Given the description of an element on the screen output the (x, y) to click on. 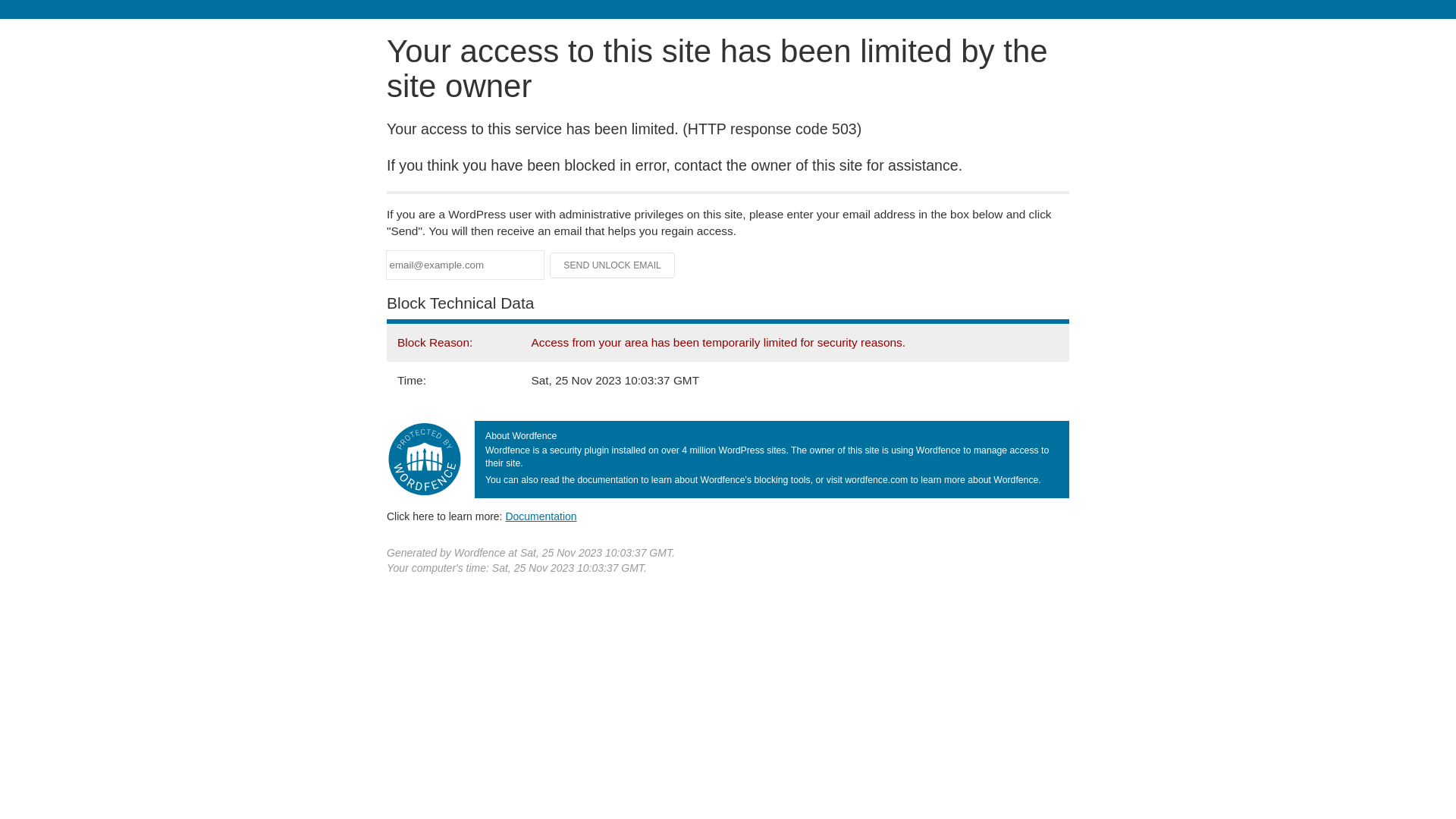
Send Unlock Email Element type: text (612, 265)
Documentation Element type: text (540, 516)
